Given the description of an element on the screen output the (x, y) to click on. 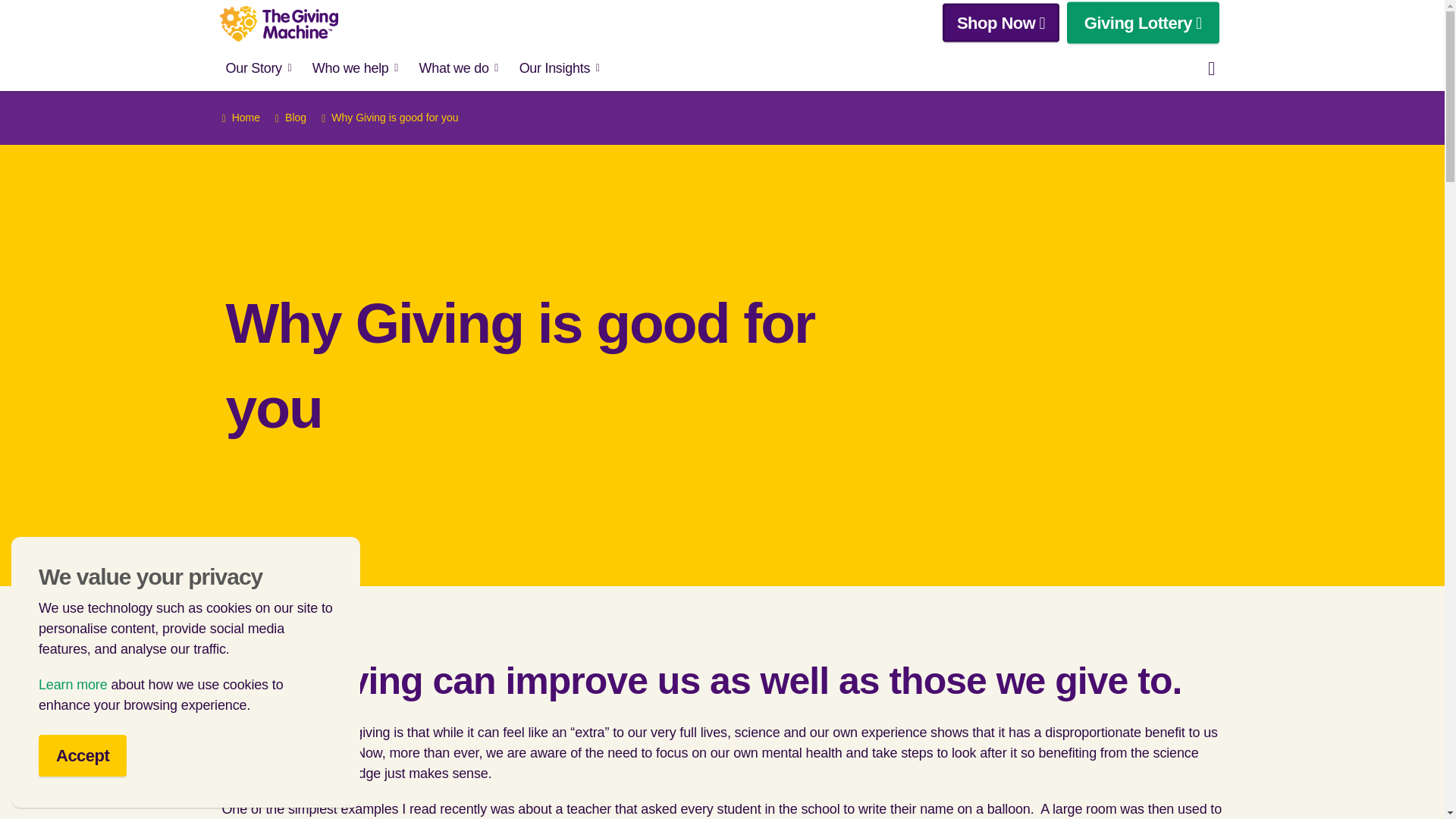
Skip to main content (722, 17)
Our Insights (554, 67)
Blog (290, 117)
What we do (453, 67)
Our Story (254, 67)
Who we help (350, 67)
Giving Lottery (1143, 22)
TheGivingMachine (279, 23)
Shop Now (1000, 22)
Home (240, 117)
